Given the description of an element on the screen output the (x, y) to click on. 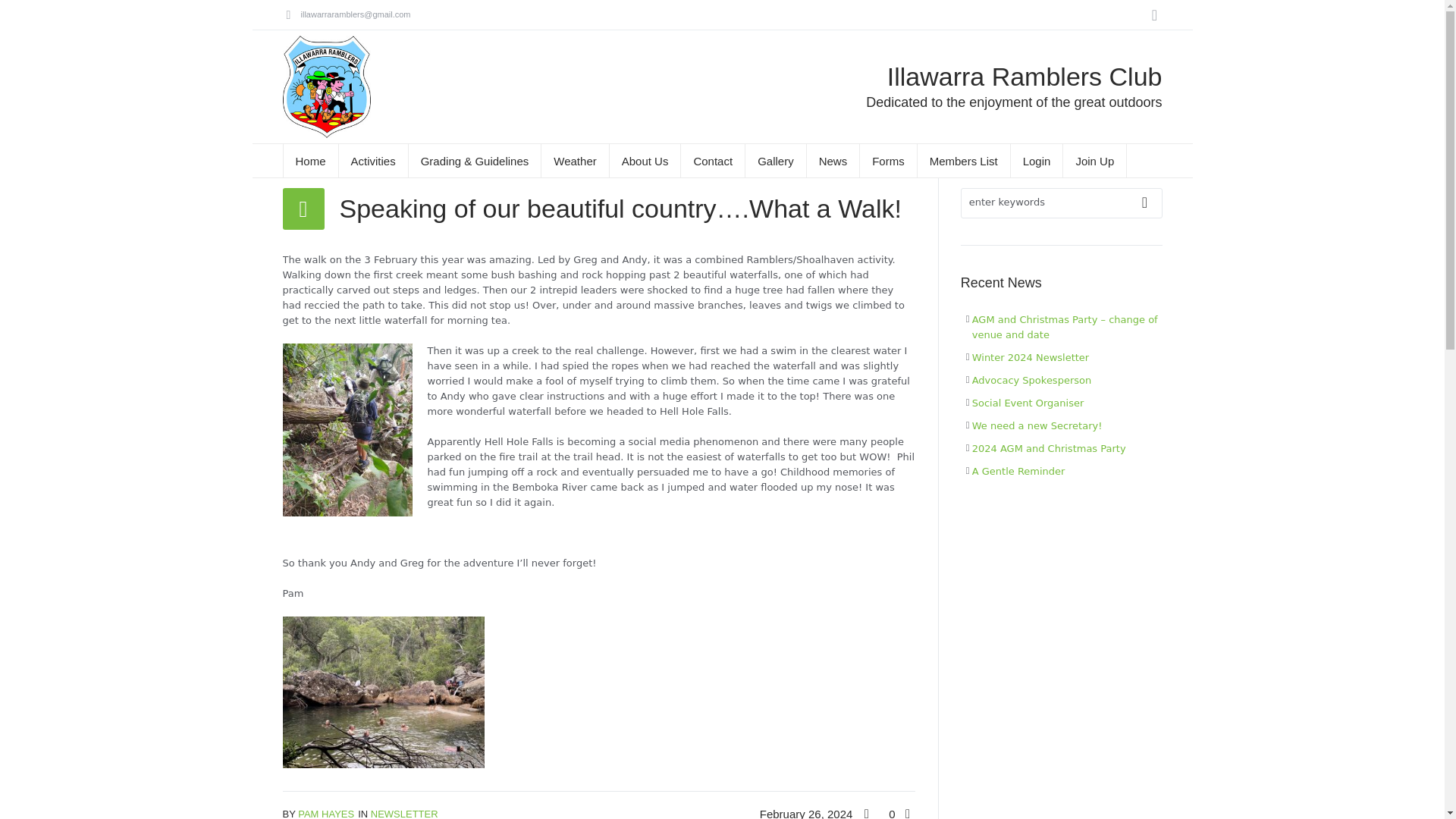
Facebook (1154, 14)
News (833, 161)
Gallery (775, 161)
0 (894, 812)
Activities (374, 161)
Forms (888, 161)
Contact (713, 161)
About Us (645, 161)
newsletter (414, 148)
Posts by Pam Hayes (325, 813)
Home (364, 148)
PAM HAYES (325, 813)
Join Up (1094, 161)
Members List (963, 161)
Home (309, 161)
